Given the description of an element on the screen output the (x, y) to click on. 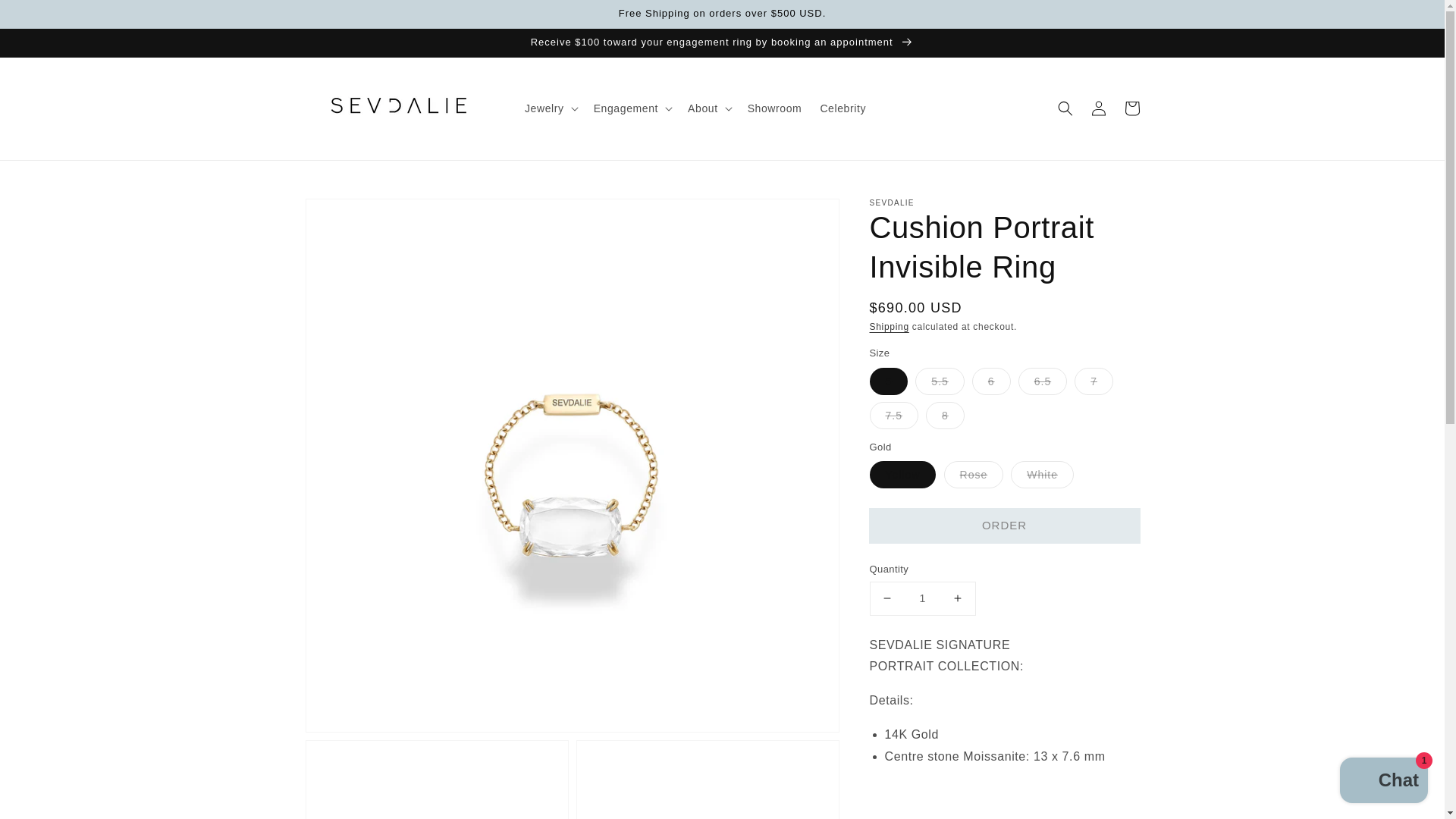
1 (922, 598)
Shopify online store chat (1383, 781)
Skip to content (45, 16)
Ring Size Guide (1079, 818)
